Given the description of an element on the screen output the (x, y) to click on. 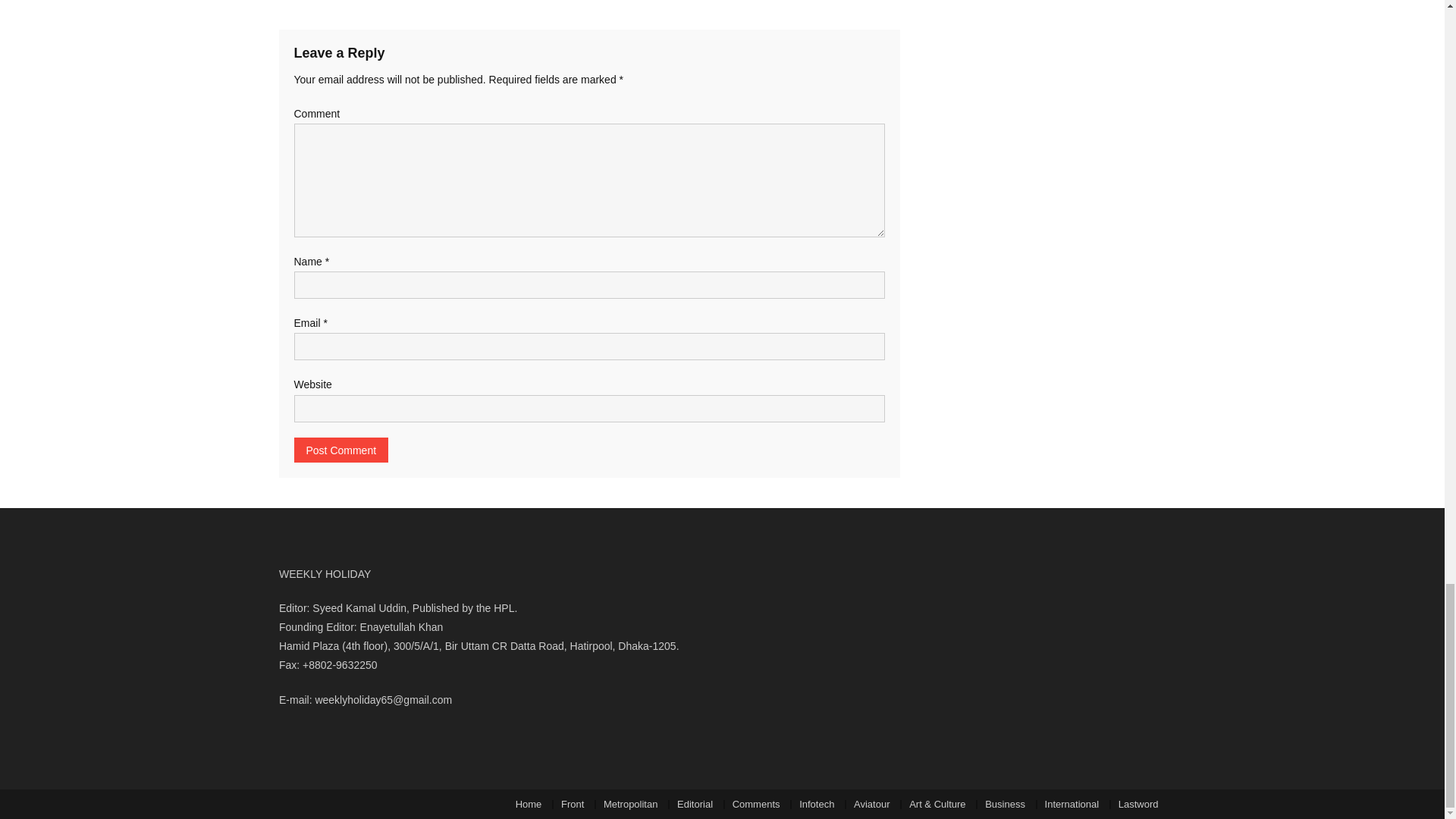
Post Comment (341, 449)
Post Comment (341, 449)
